Given the description of an element on the screen output the (x, y) to click on. 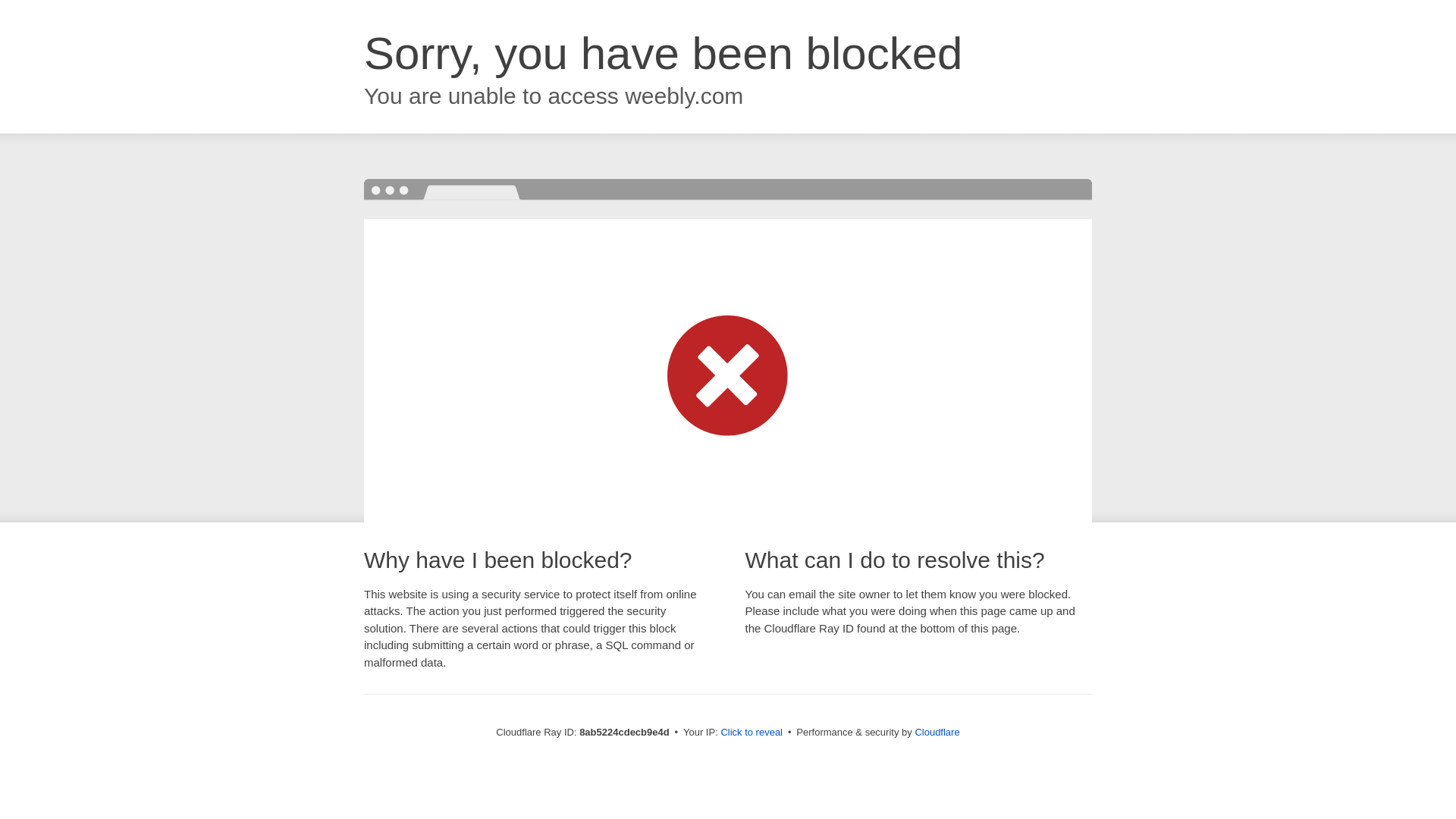
Cloudflare (936, 731)
Click to reveal (751, 732)
